Given the description of an element on the screen output the (x, y) to click on. 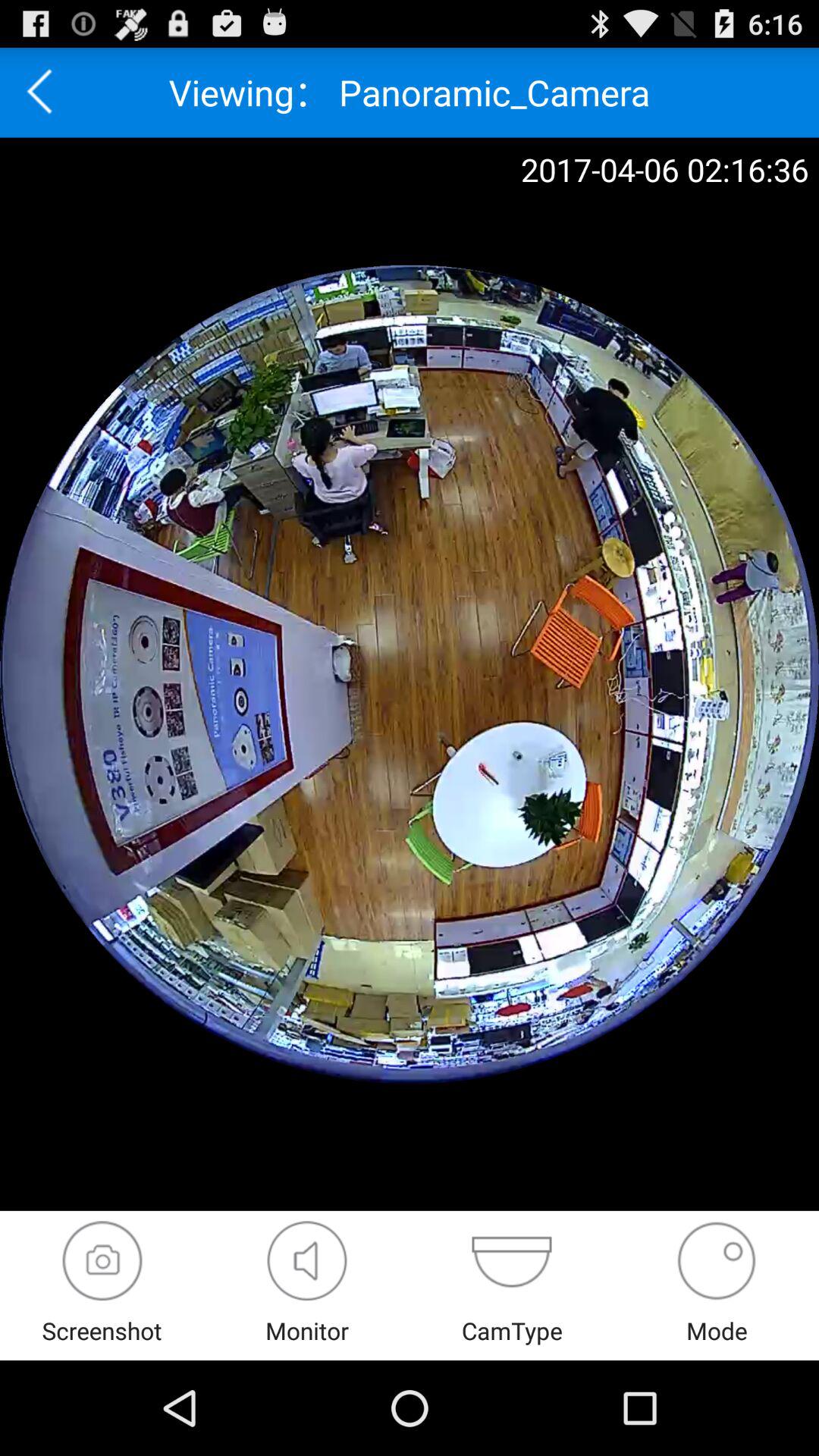
choose the item at the top left corner (44, 92)
